Given the description of an element on the screen output the (x, y) to click on. 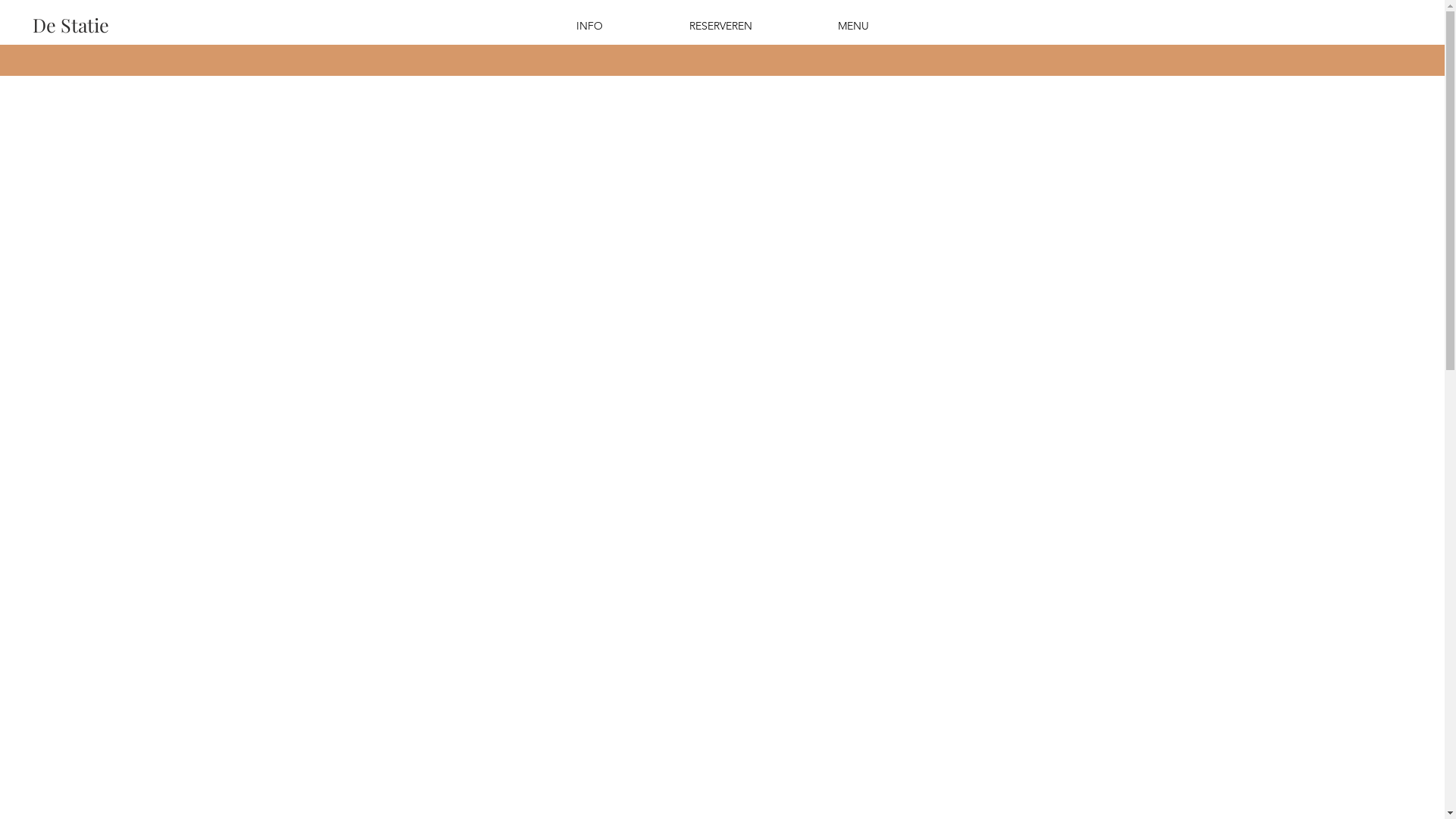
INFO Element type: text (588, 24)
RESERVEREN Element type: text (720, 24)
De Statie Element type: text (70, 24)
